Given the description of an element on the screen output the (x, y) to click on. 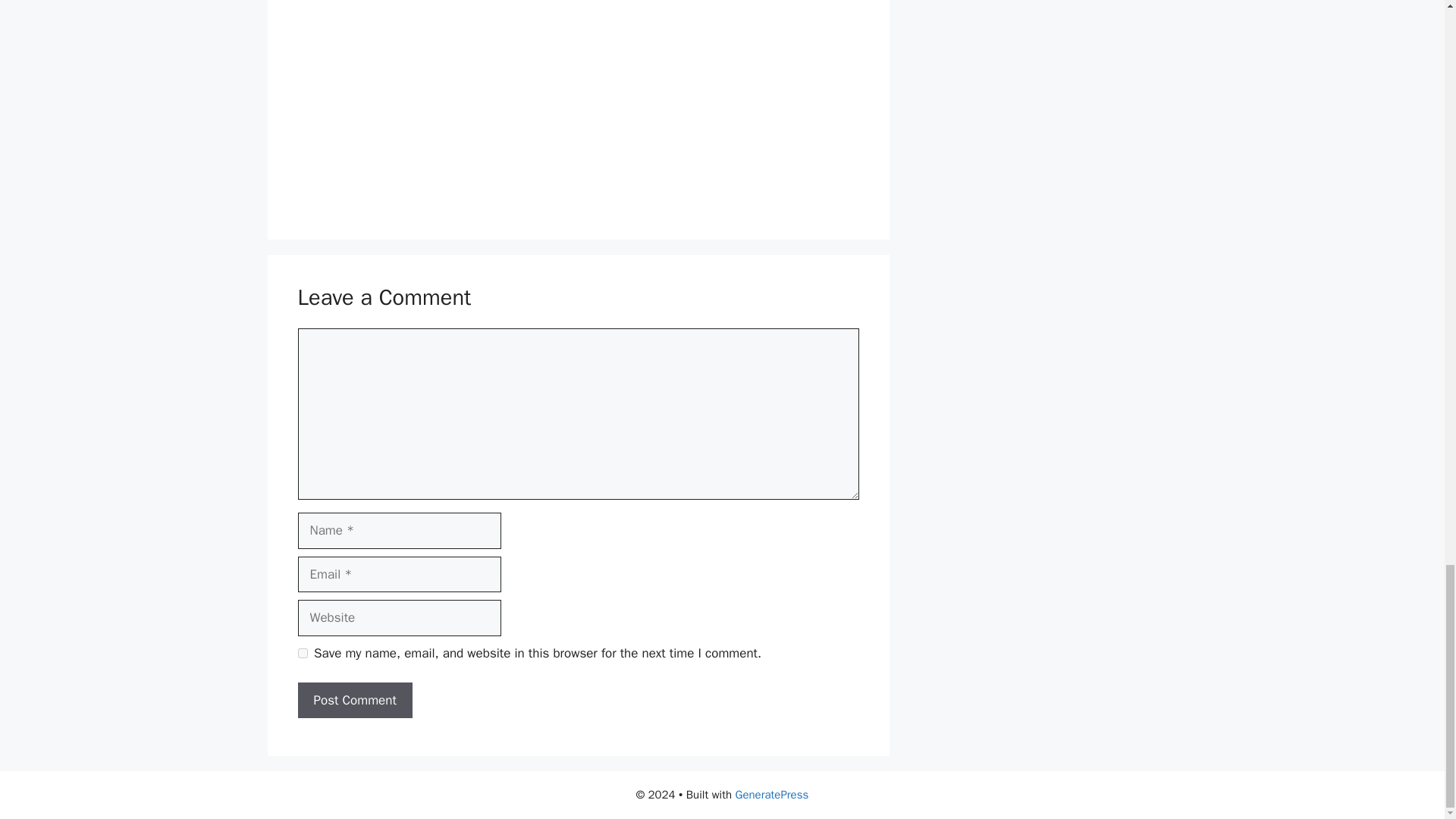
yes (302, 653)
Post Comment (354, 700)
Post Comment (354, 700)
GeneratePress (772, 794)
